Given the description of an element on the screen output the (x, y) to click on. 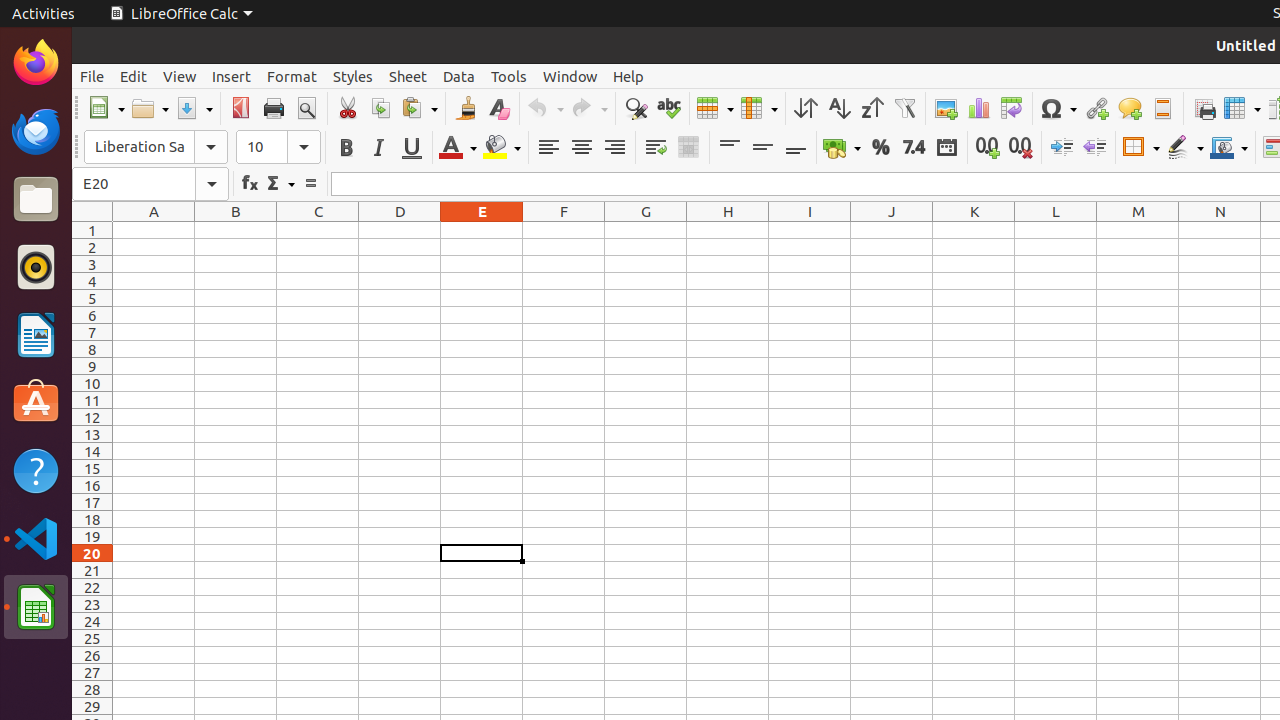
Print Element type: push-button (273, 108)
N1 Element type: table-cell (1220, 230)
AutoFilter Element type: push-button (904, 108)
Sort Descending Element type: push-button (871, 108)
Select Function Element type: push-button (280, 183)
